Given the description of an element on the screen output the (x, y) to click on. 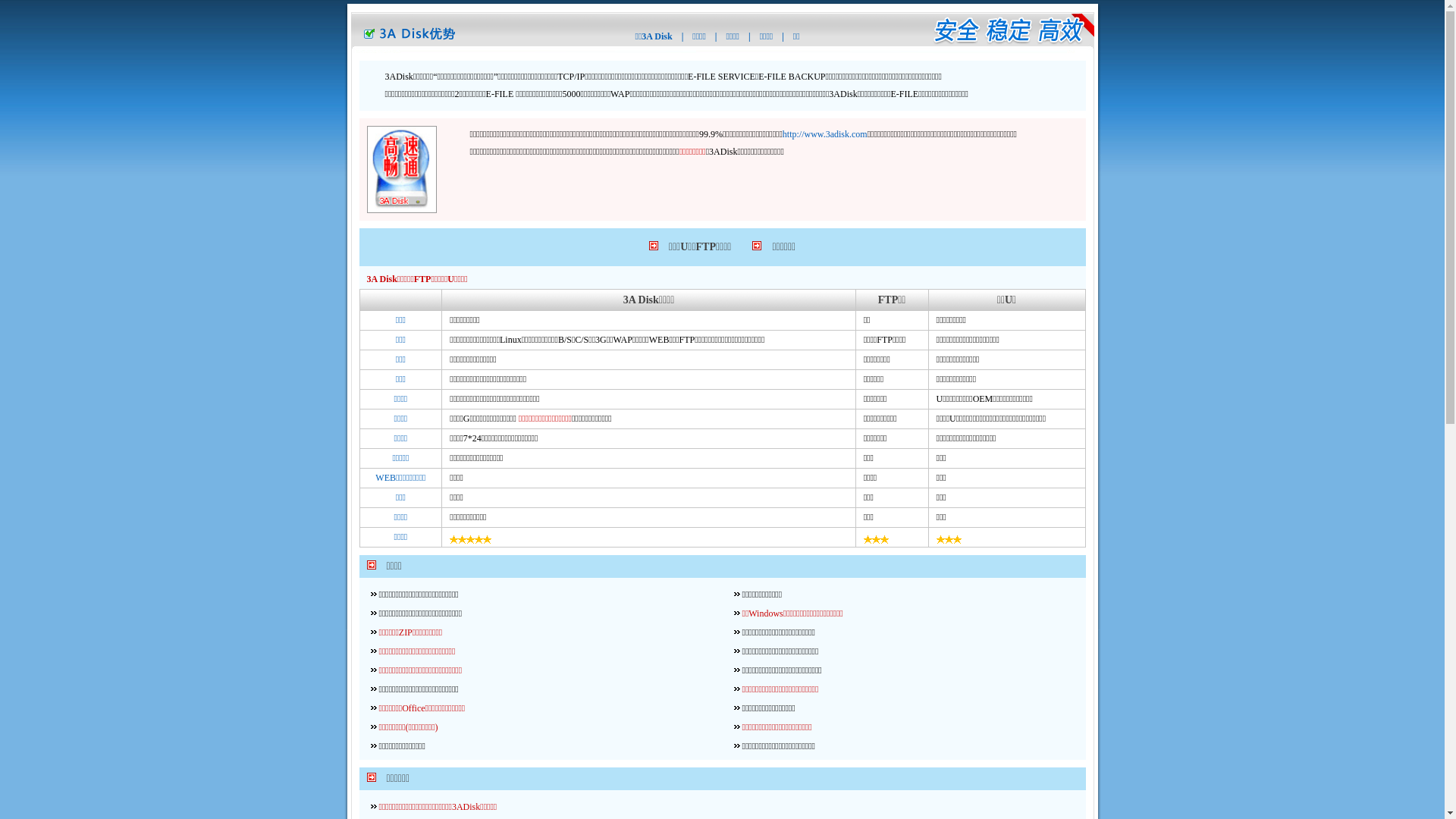
http://www.3adisk.com Element type: text (824, 133)
